Given the description of an element on the screen output the (x, y) to click on. 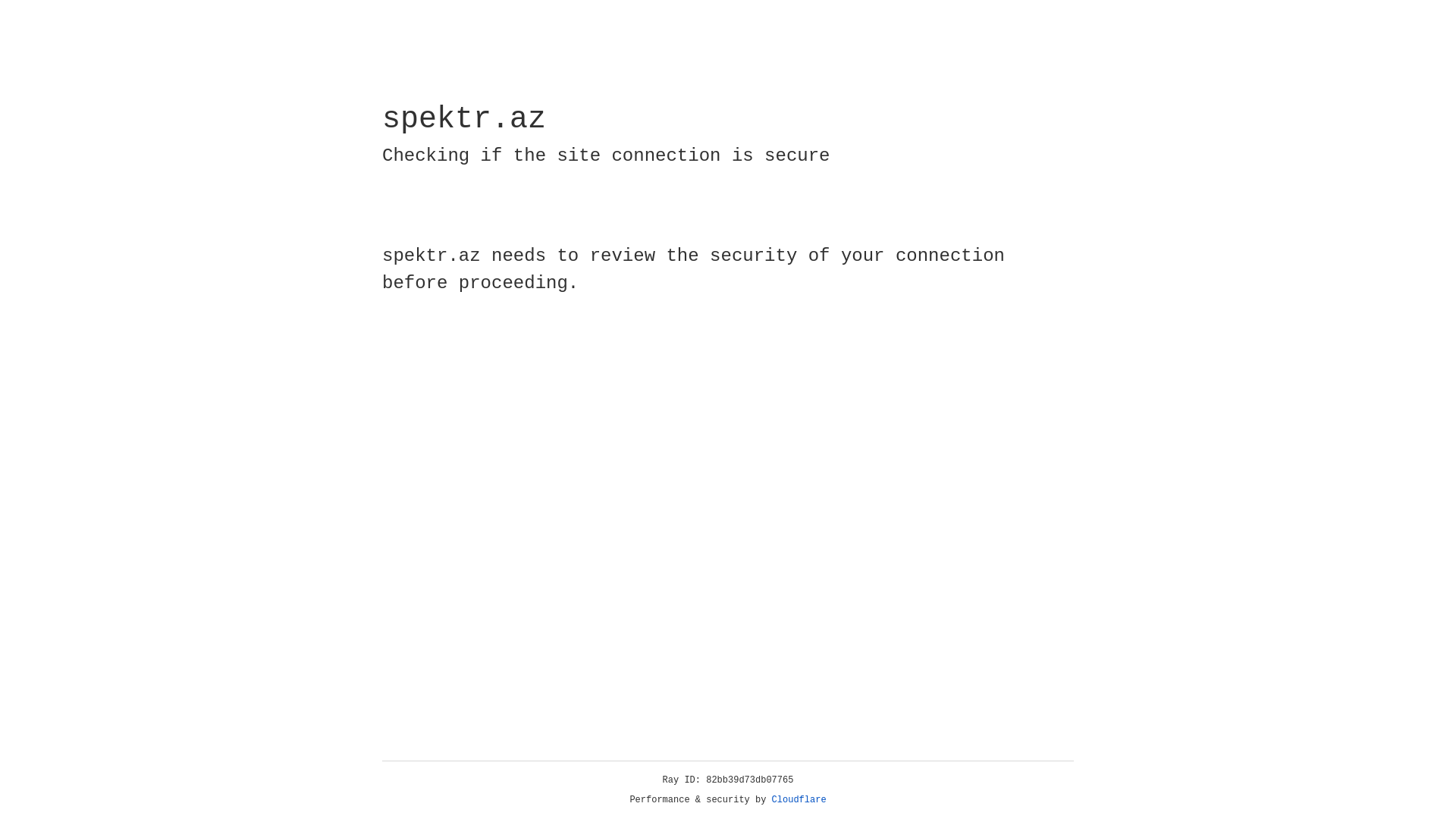
Cloudflare Element type: text (798, 799)
